Given the description of an element on the screen output the (x, y) to click on. 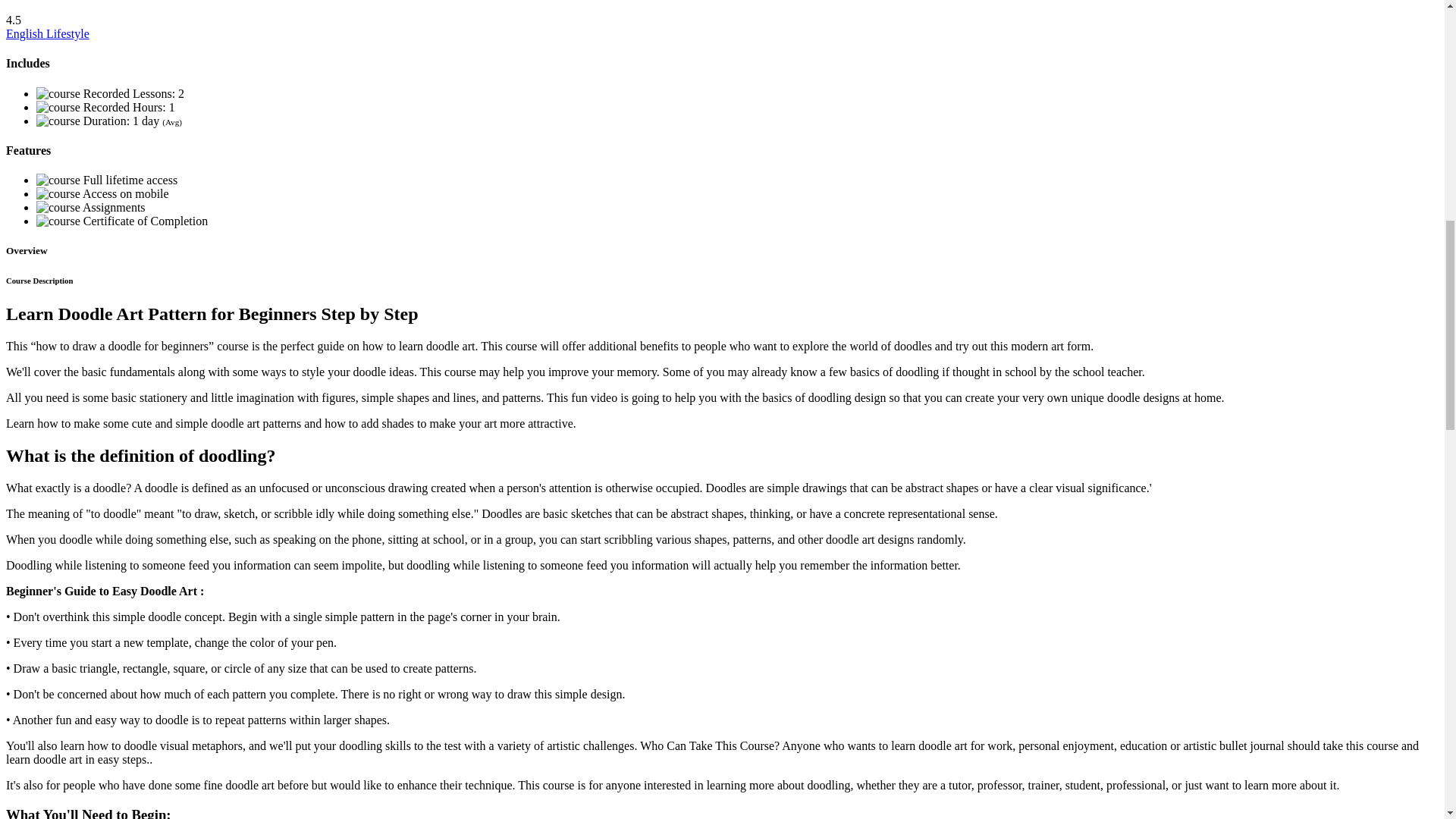
Lifestyle (67, 33)
English (25, 33)
